Given the description of an element on the screen output the (x, y) to click on. 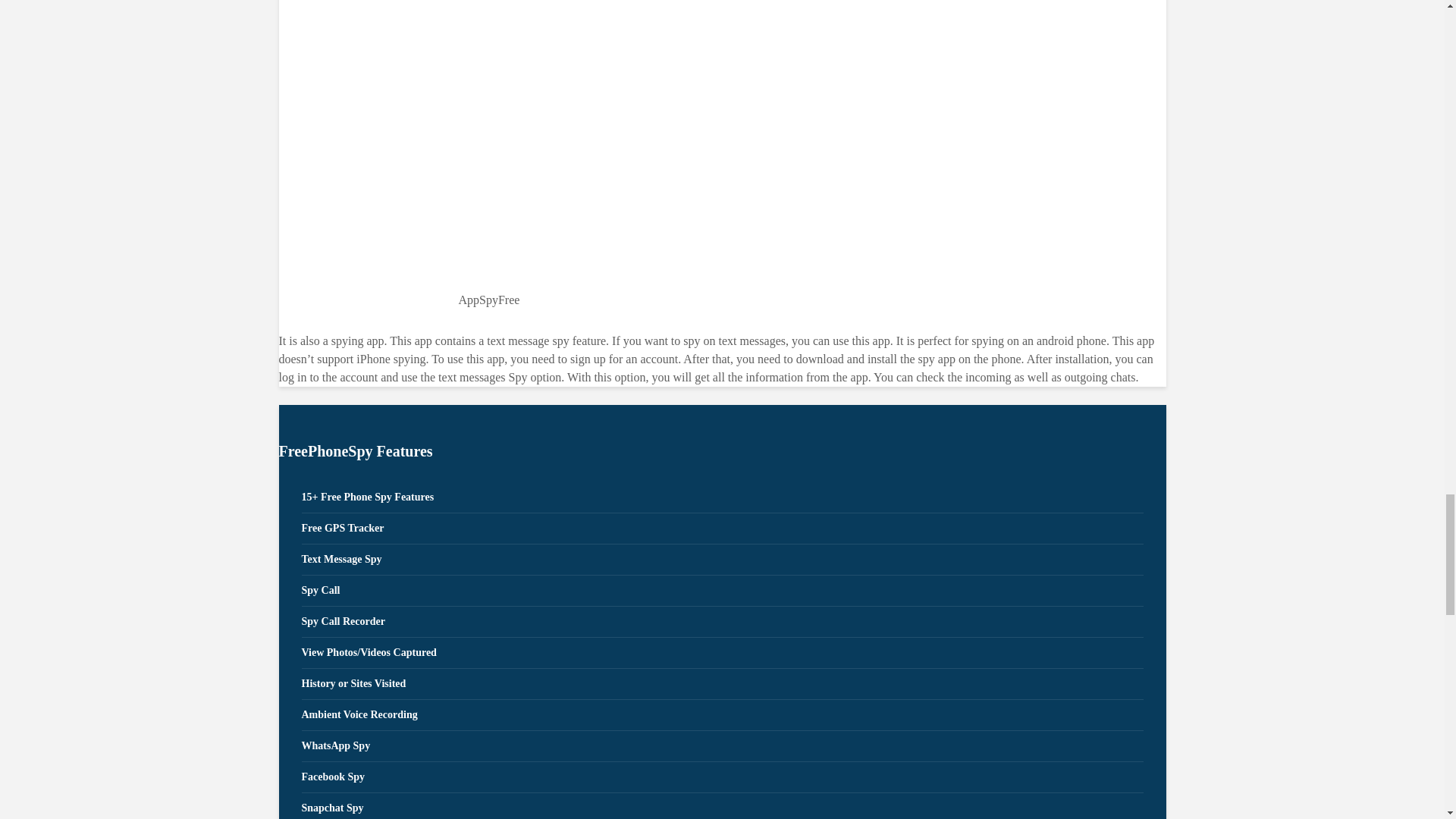
WhatsApp Spy (721, 746)
Free GPS Tracker (721, 528)
Snapchat Spy (721, 806)
History or Sites Visited (721, 684)
Ambient Voice Recording (721, 715)
Facebook Spy (721, 777)
Spy Call (721, 590)
Spy Call Recorder (721, 622)
Text Message Spy (721, 559)
